Given the description of an element on the screen output the (x, y) to click on. 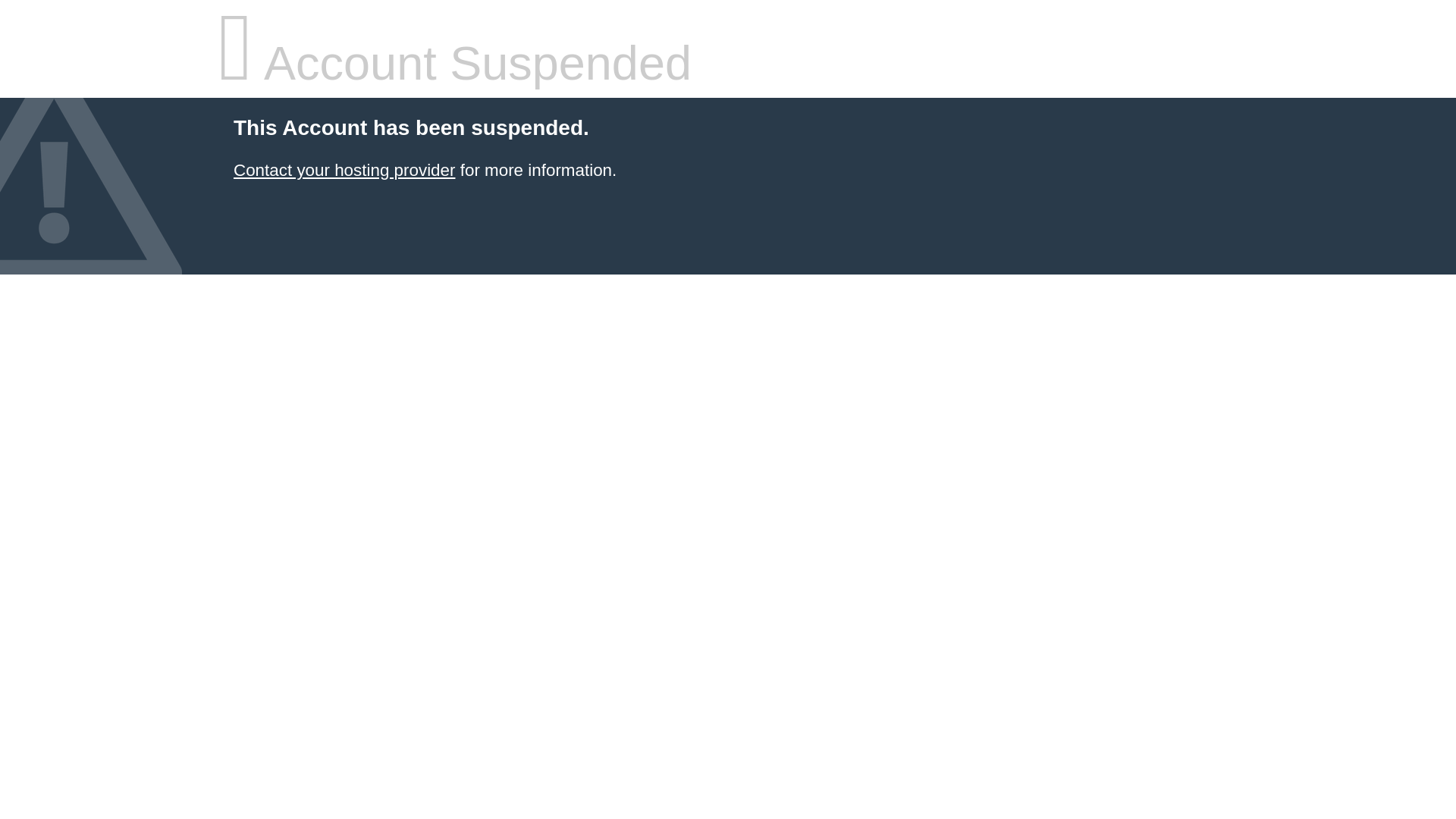
Contact your hosting provider (343, 169)
